Given the description of an element on the screen output the (x, y) to click on. 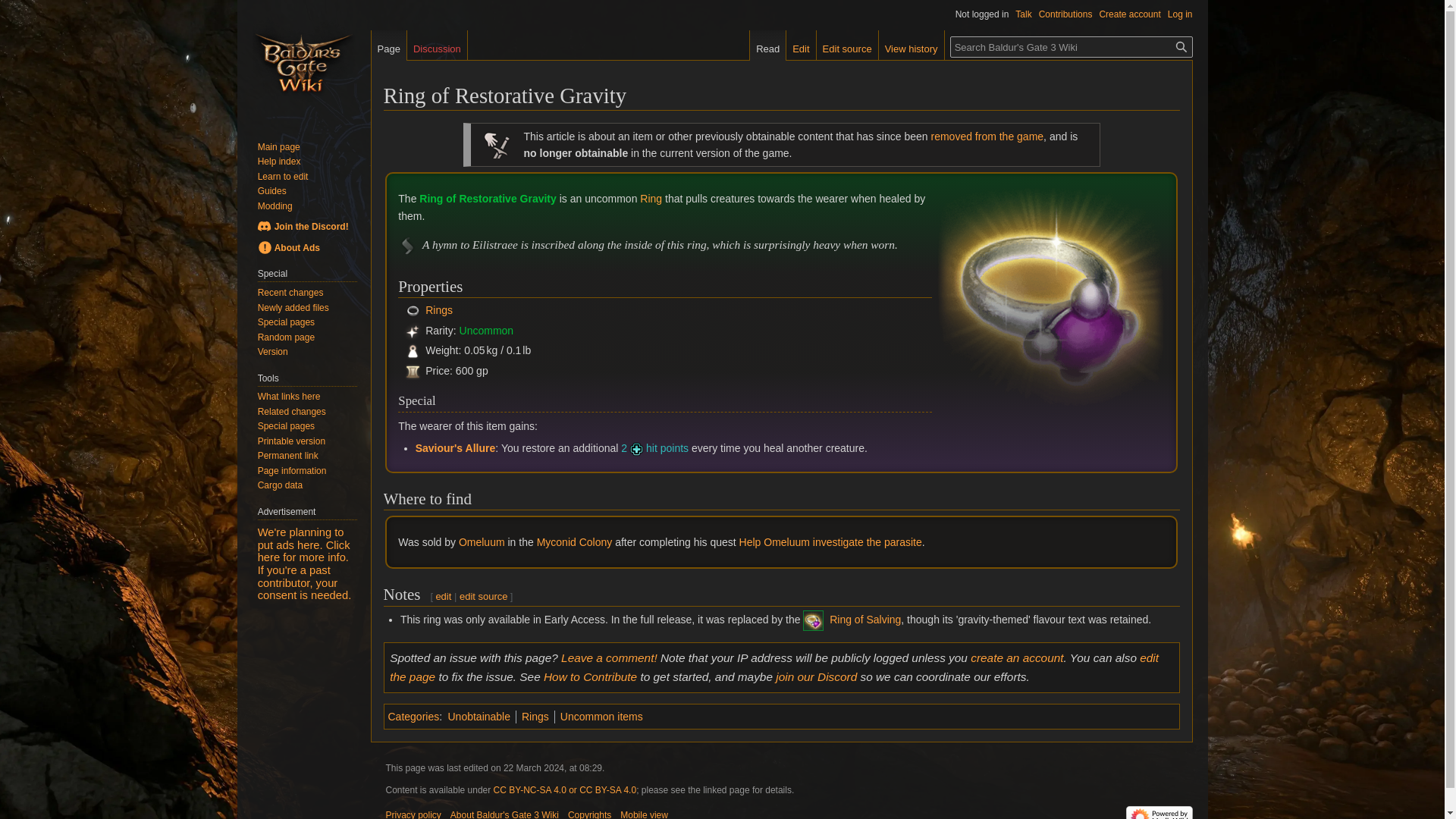
How to Contribute (590, 676)
Ring (651, 198)
Leave a comment! (609, 657)
Edit (800, 45)
Read (767, 45)
Uncommon items (601, 716)
Saviour's Allure (455, 448)
edit (443, 595)
Rings (651, 198)
Discussion (436, 45)
Page (387, 45)
View history (910, 45)
Saviour's Allure (455, 448)
Rings (438, 310)
Rings (412, 310)
